Given the description of an element on the screen output the (x, y) to click on. 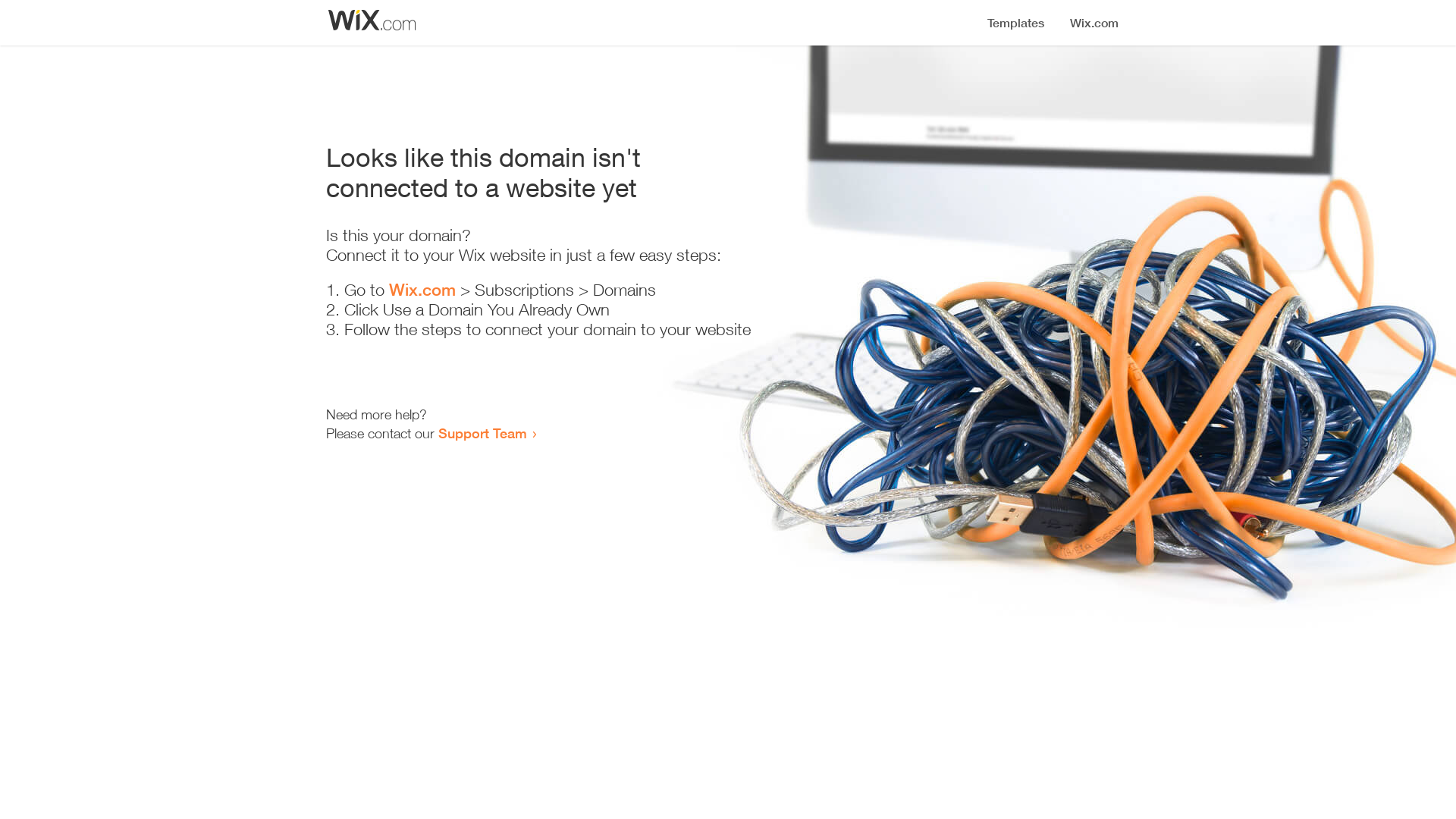
Support Team Element type: text (482, 432)
Wix.com Element type: text (422, 289)
